Given the description of an element on the screen output the (x, y) to click on. 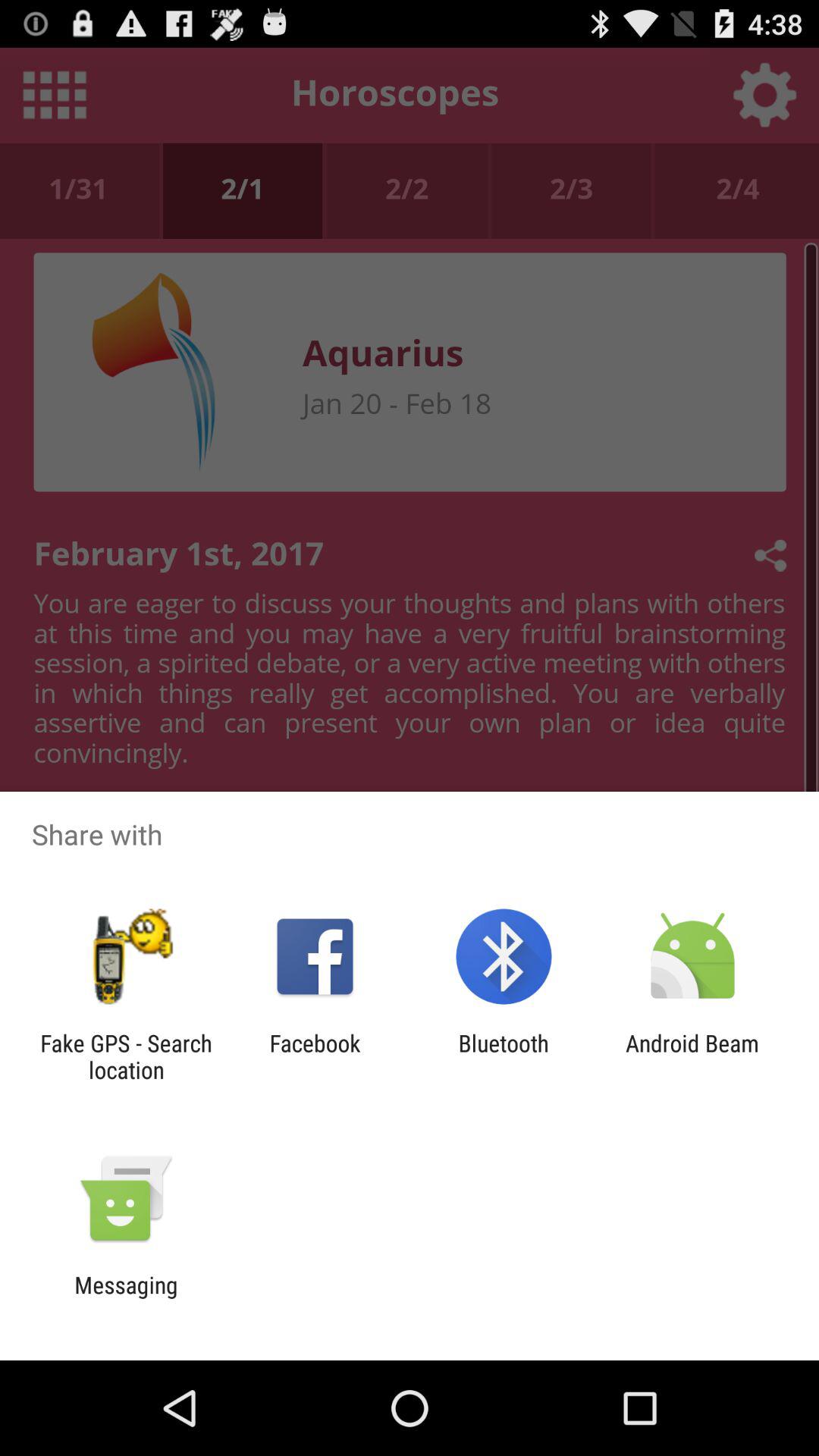
flip until the android beam item (692, 1056)
